Given the description of an element on the screen output the (x, y) to click on. 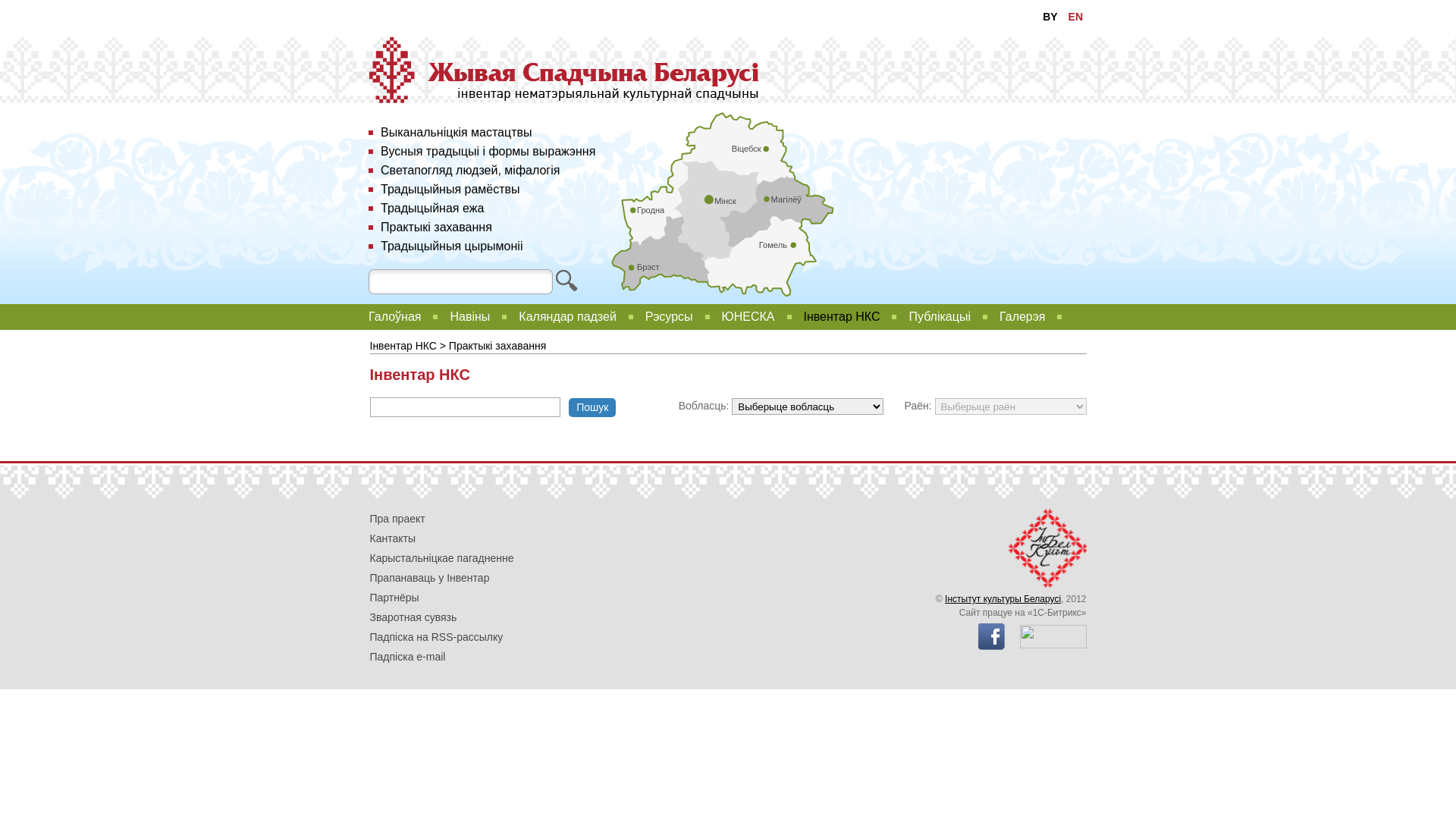
BY Element type: text (1049, 16)
EN Element type: text (1075, 16)
